Given the description of an element on the screen output the (x, y) to click on. 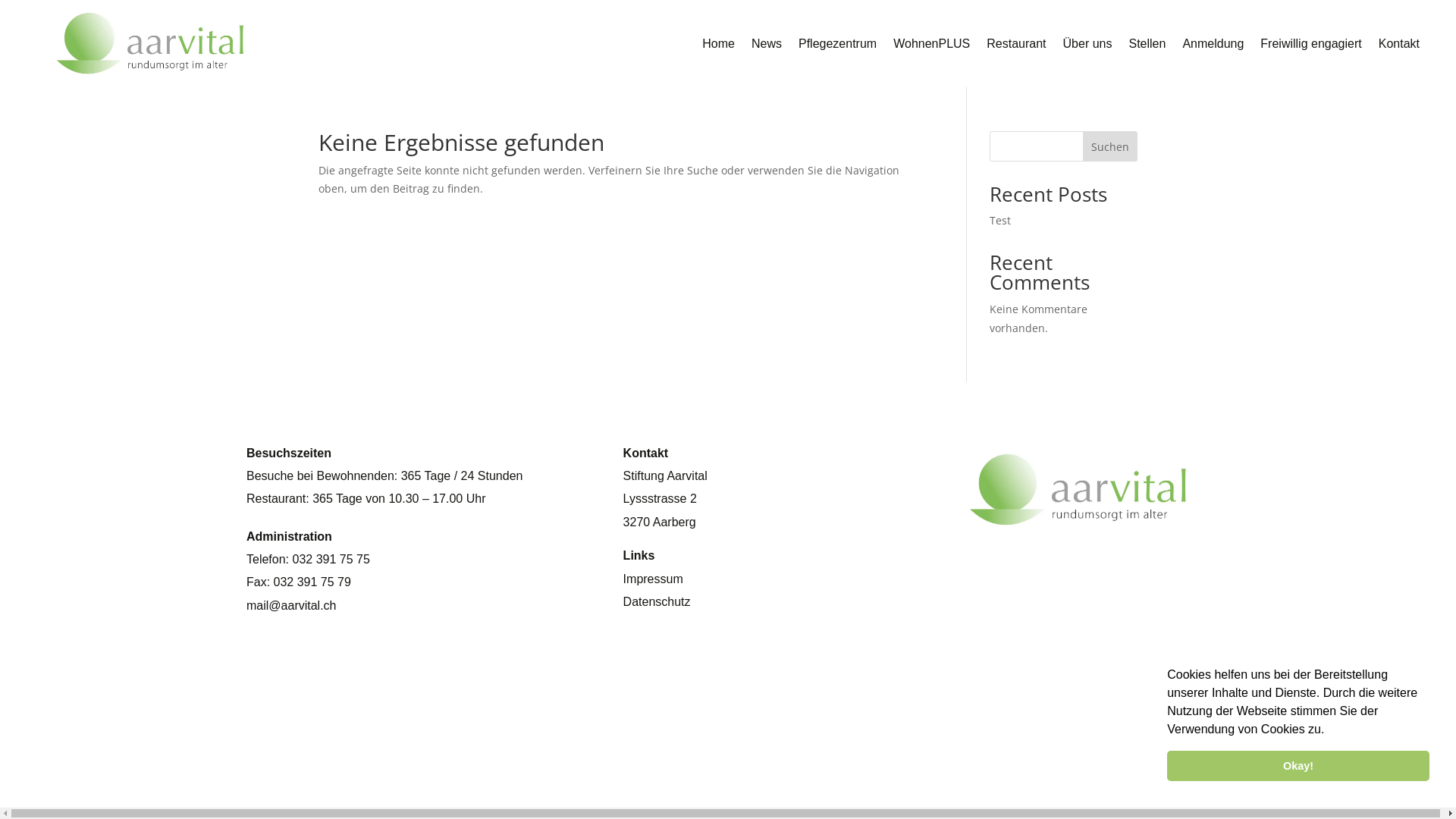
Stellen Element type: text (1146, 46)
Pflegezentrum Element type: text (837, 46)
Kontakt Element type: text (1398, 46)
Datenschutz Element type: text (656, 601)
Restaurant Element type: text (1015, 46)
mail@aarvital.ch Element type: text (291, 605)
Test Element type: text (999, 220)
logoweb Element type: hover (1077, 527)
Suchen Element type: text (1109, 146)
Okay! Element type: text (1298, 765)
Impressum Element type: text (653, 578)
WohnenPLUS Element type: text (931, 46)
Home Element type: text (718, 46)
logoweb Element type: hover (149, 75)
News Element type: text (766, 46)
Freiwillig engagiert Element type: text (1310, 46)
Anmeldung Element type: text (1212, 46)
032 391 75 75 Element type: text (330, 558)
